Given the description of an element on the screen output the (x, y) to click on. 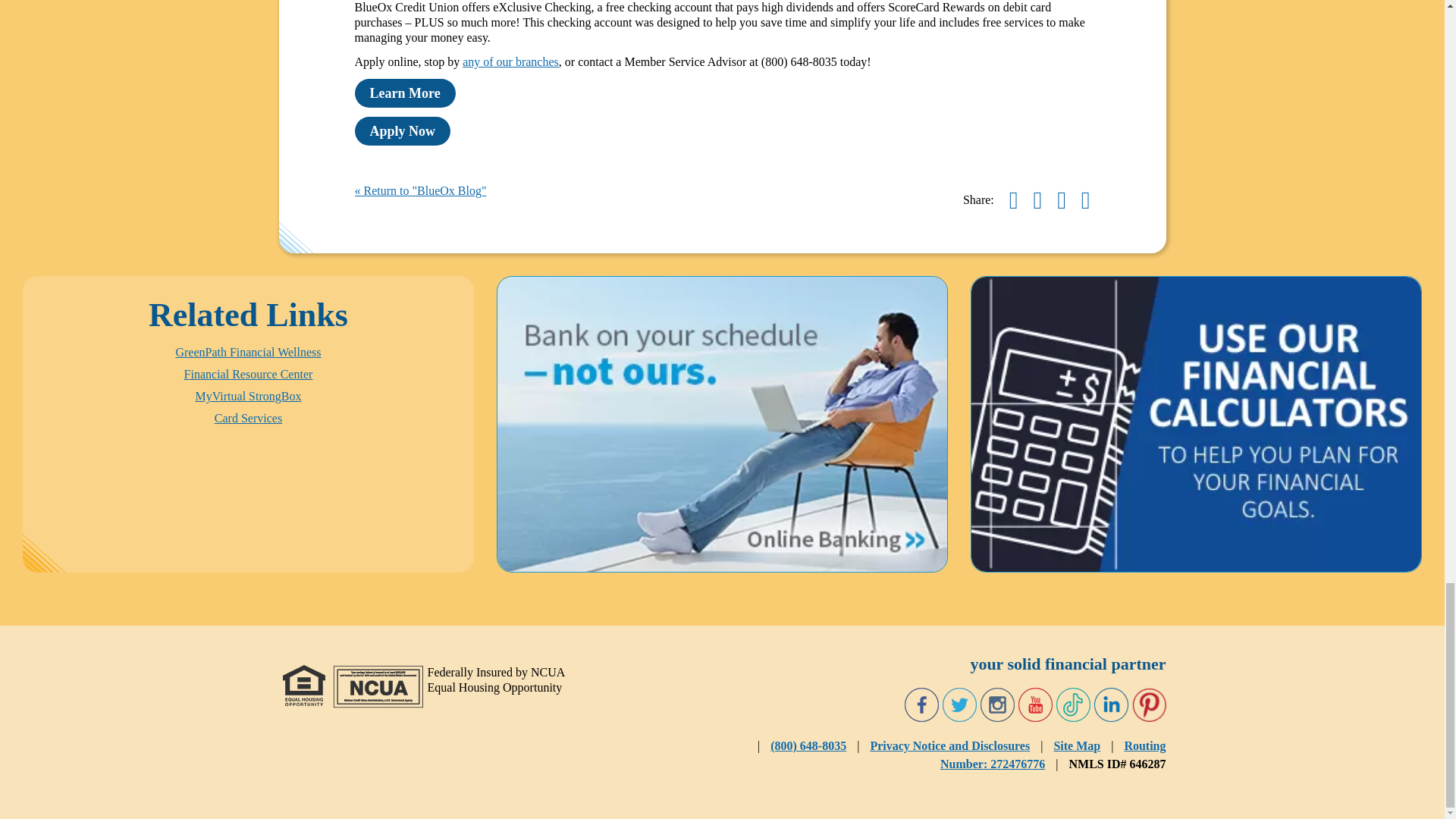
BlueOx Credit Union Online Banking (722, 423)
Branch Locations (511, 61)
Equal Housing Opportunity (303, 685)
